Given the description of an element on the screen output the (x, y) to click on. 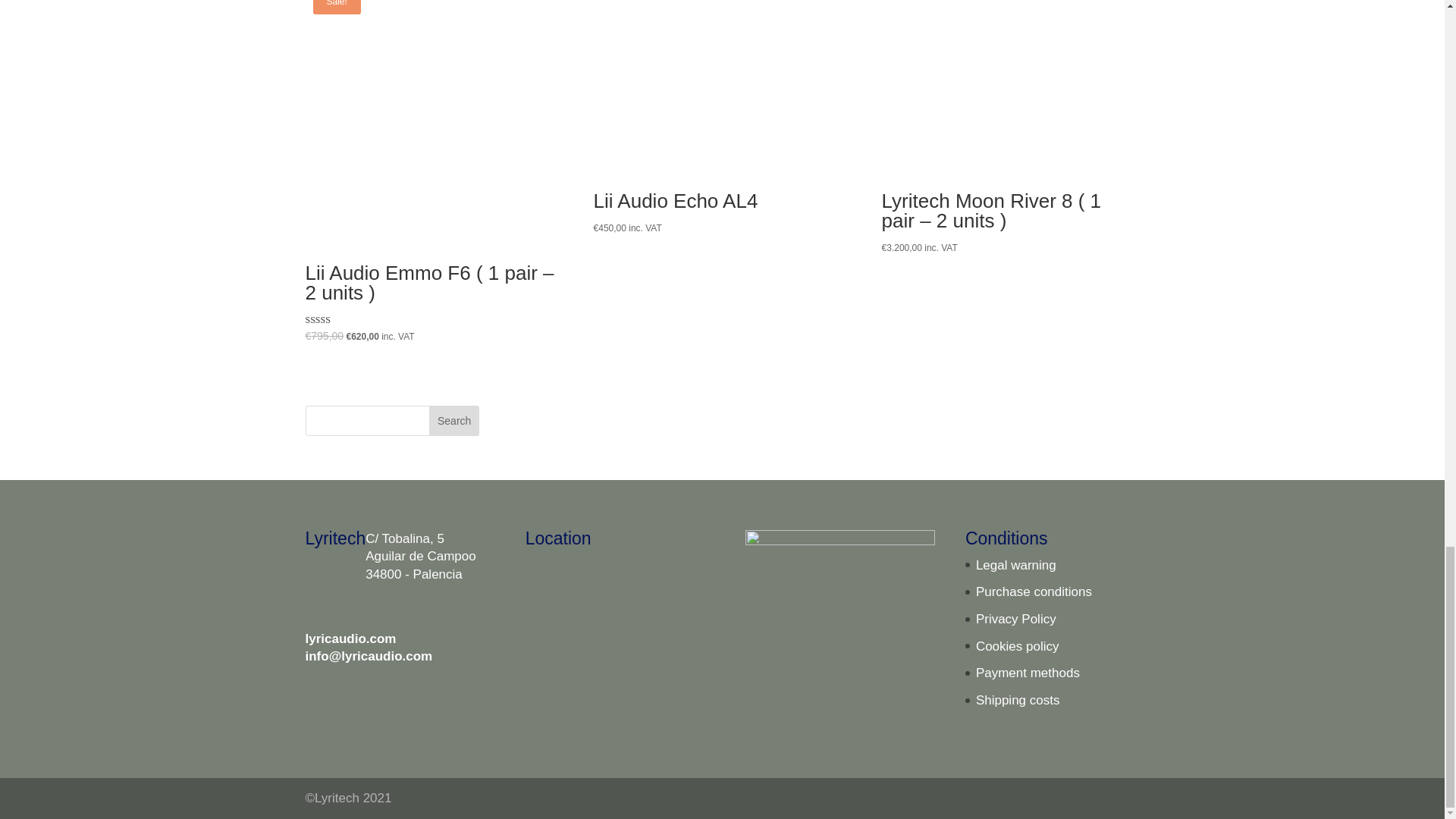
Privacy Policy (1016, 618)
Legal warning (1016, 564)
Search (454, 420)
Shipping costs (1017, 699)
Purchase conditions (1033, 591)
Search (454, 420)
Payment methods (1027, 672)
Cookies policy (1017, 646)
lyricaudio.com (350, 638)
